Given the description of an element on the screen output the (x, y) to click on. 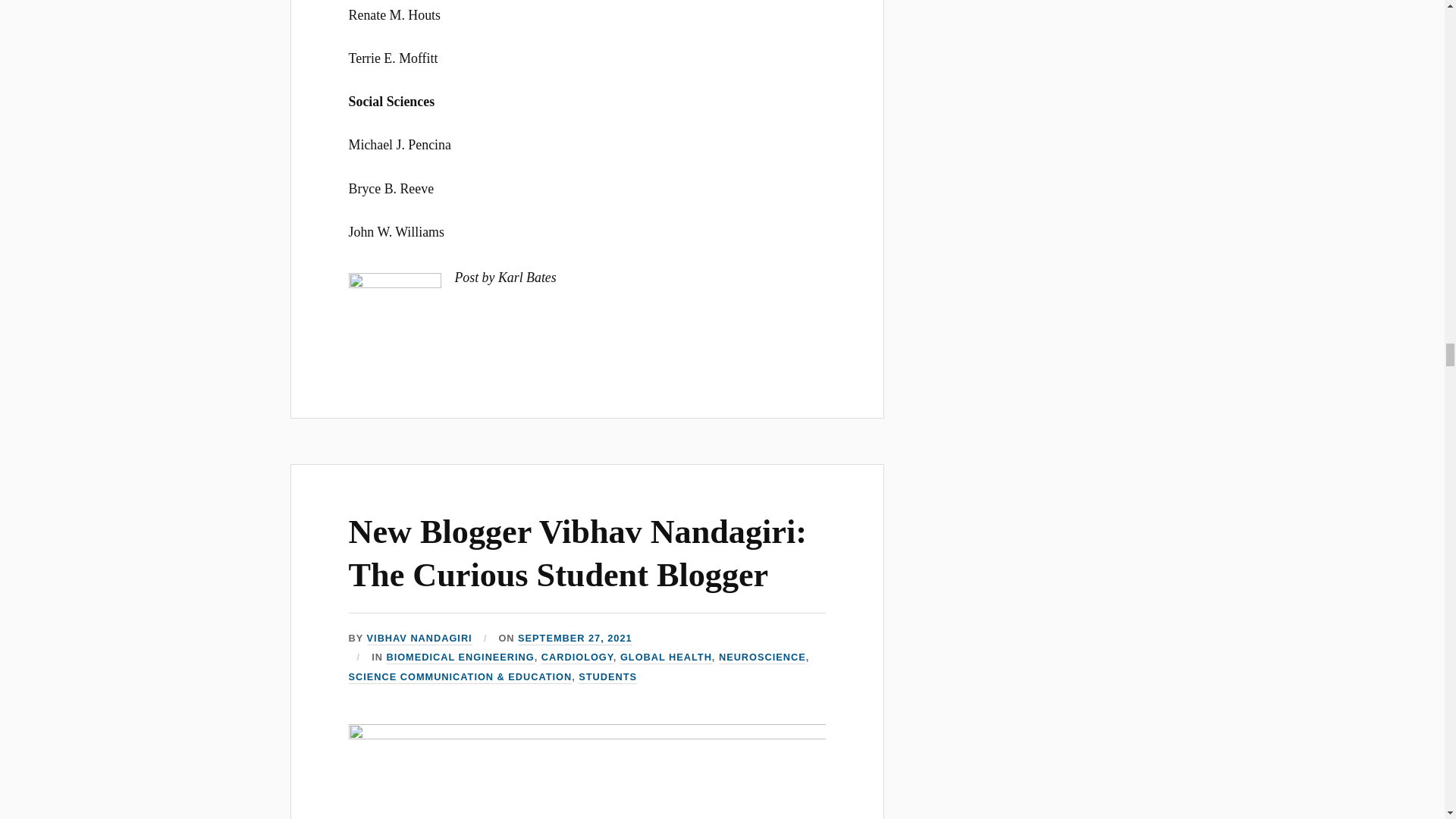
Posts by Vibhav Nandagiri (418, 638)
